Given the description of an element on the screen output the (x, y) to click on. 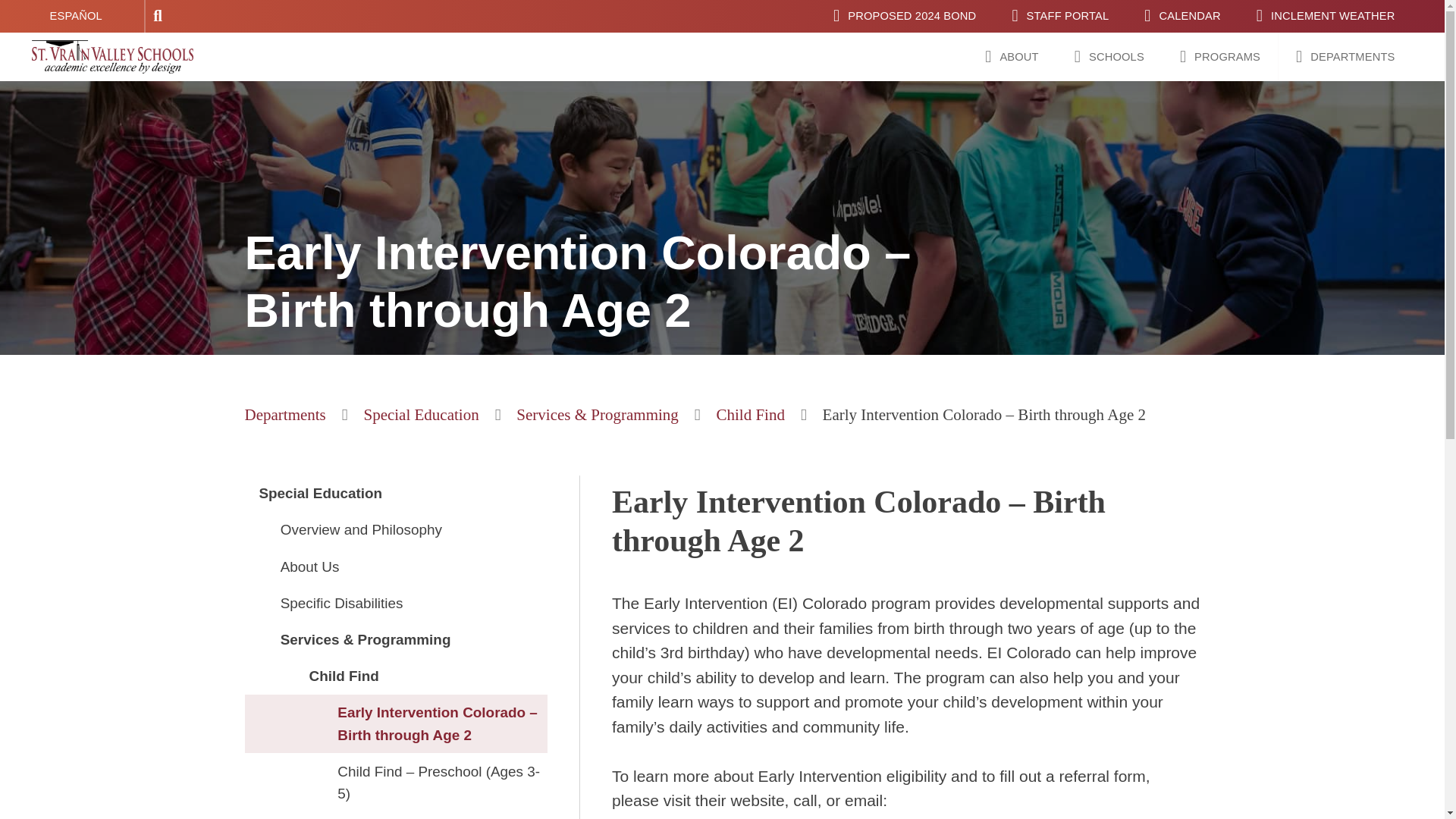
SCHOOLS (1109, 56)
PROPOSED 2024 BOND (903, 16)
ABOUT (1012, 56)
CALENDAR (1182, 16)
PROGRAMS (1219, 56)
St. Vrain Valley Schools (92, 54)
INCLEMENT WEATHER (1325, 16)
STAFF PORTAL (1060, 16)
